Given the description of an element on the screen output the (x, y) to click on. 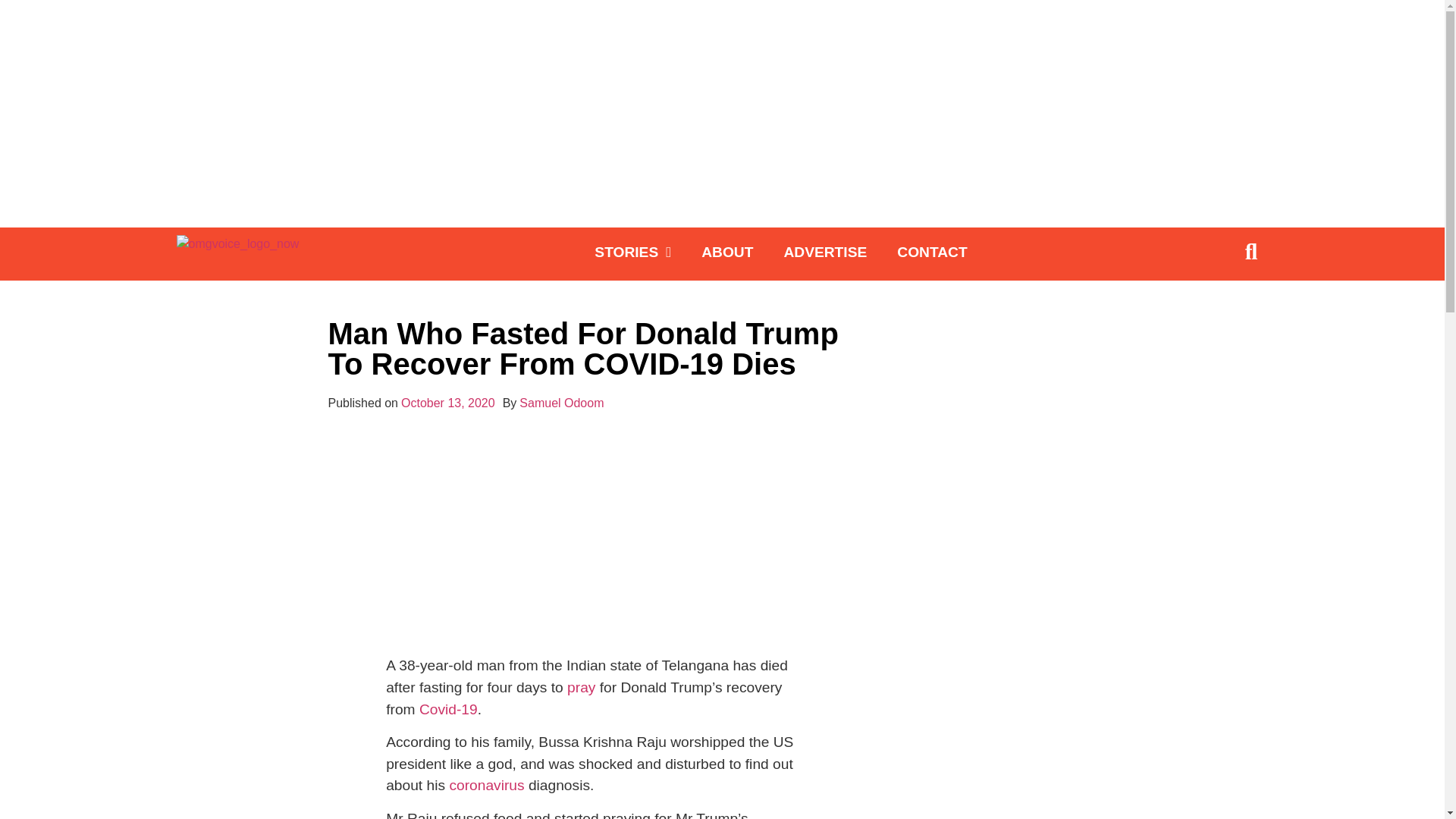
coronavirus (486, 785)
ADVERTISE (825, 252)
STORIES (632, 252)
Samuel Odoom (561, 402)
pray (581, 687)
ABOUT (726, 252)
CONTACT (931, 252)
Covid-19 (448, 709)
October 13, 2020 (448, 402)
